Given the description of an element on the screen output the (x, y) to click on. 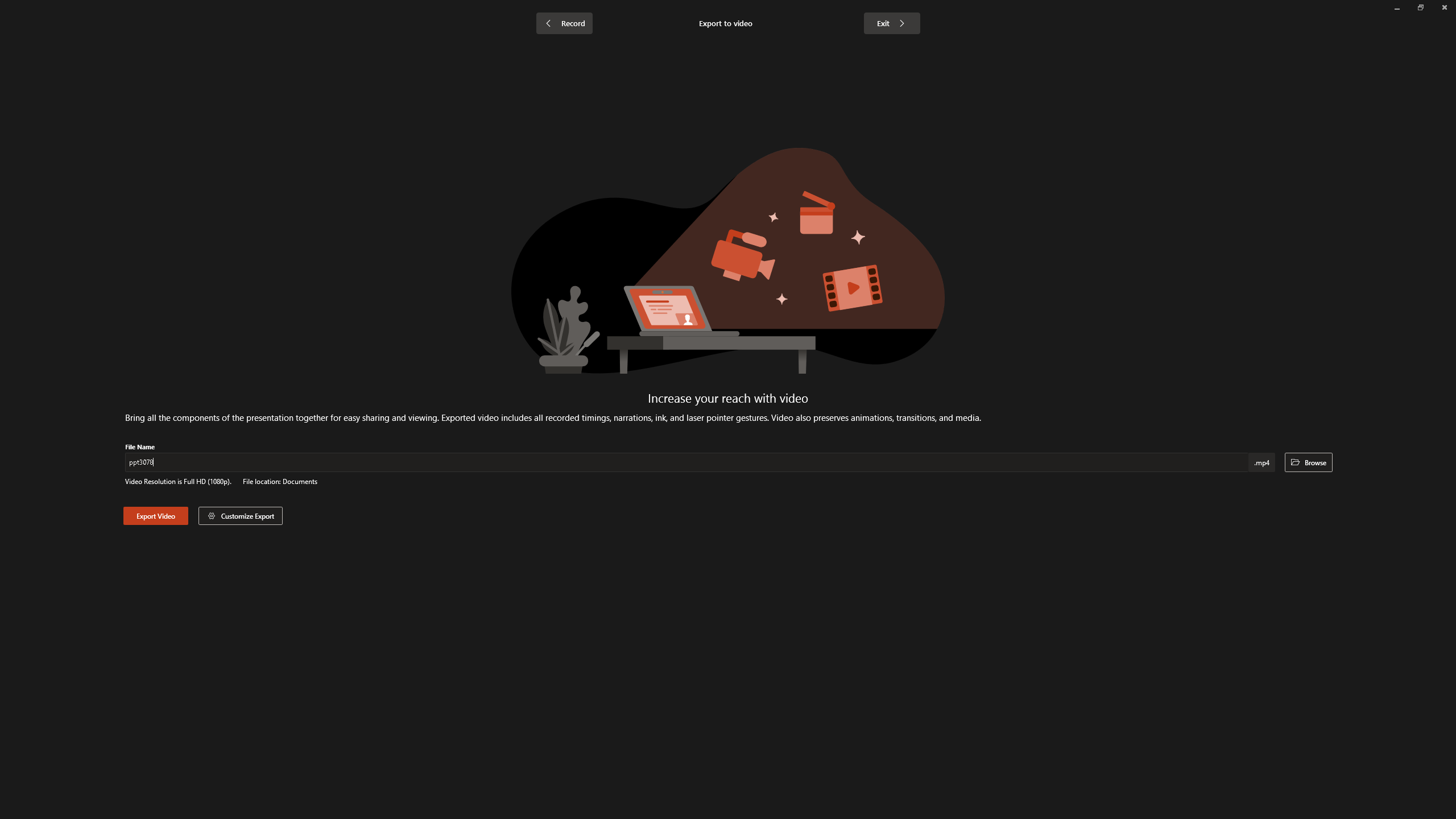
Learn More (368, 58)
From Beginning... (89, 58)
